Given the description of an element on the screen output the (x, y) to click on. 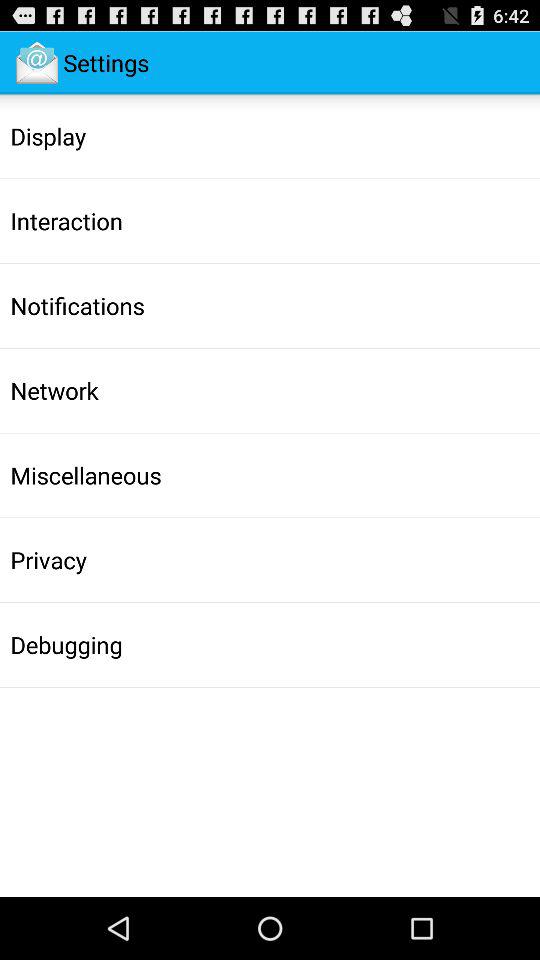
choose the icon above the network item (77, 305)
